Given the description of an element on the screen output the (x, y) to click on. 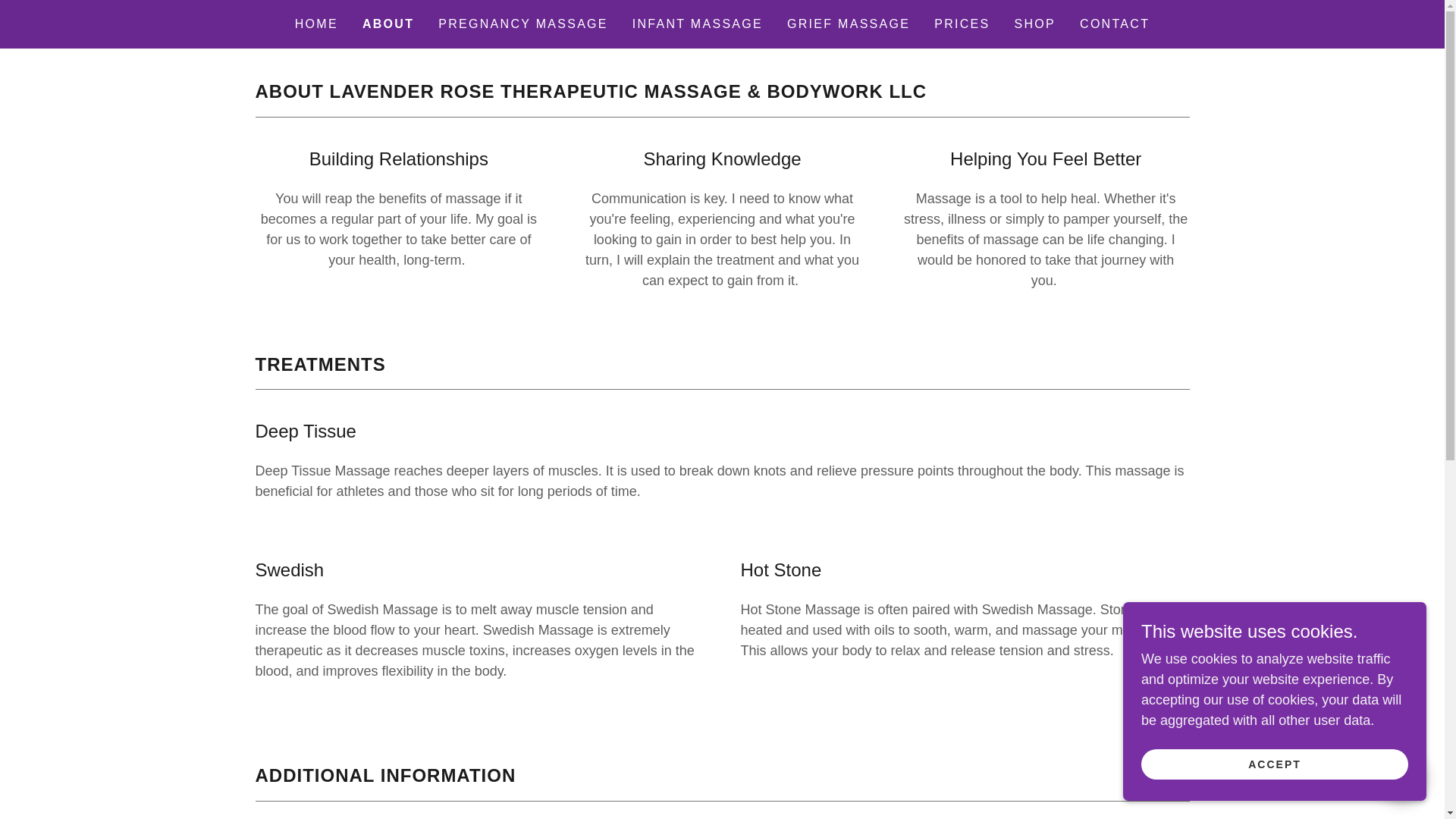
HOME (315, 23)
ABOUT (387, 24)
ACCEPT (1274, 764)
CONTACT (1114, 23)
PREGNANCY MASSAGE (522, 23)
SHOP (1035, 23)
PRICES (962, 23)
INFANT MASSAGE (697, 23)
GRIEF MASSAGE (848, 23)
